Given the description of an element on the screen output the (x, y) to click on. 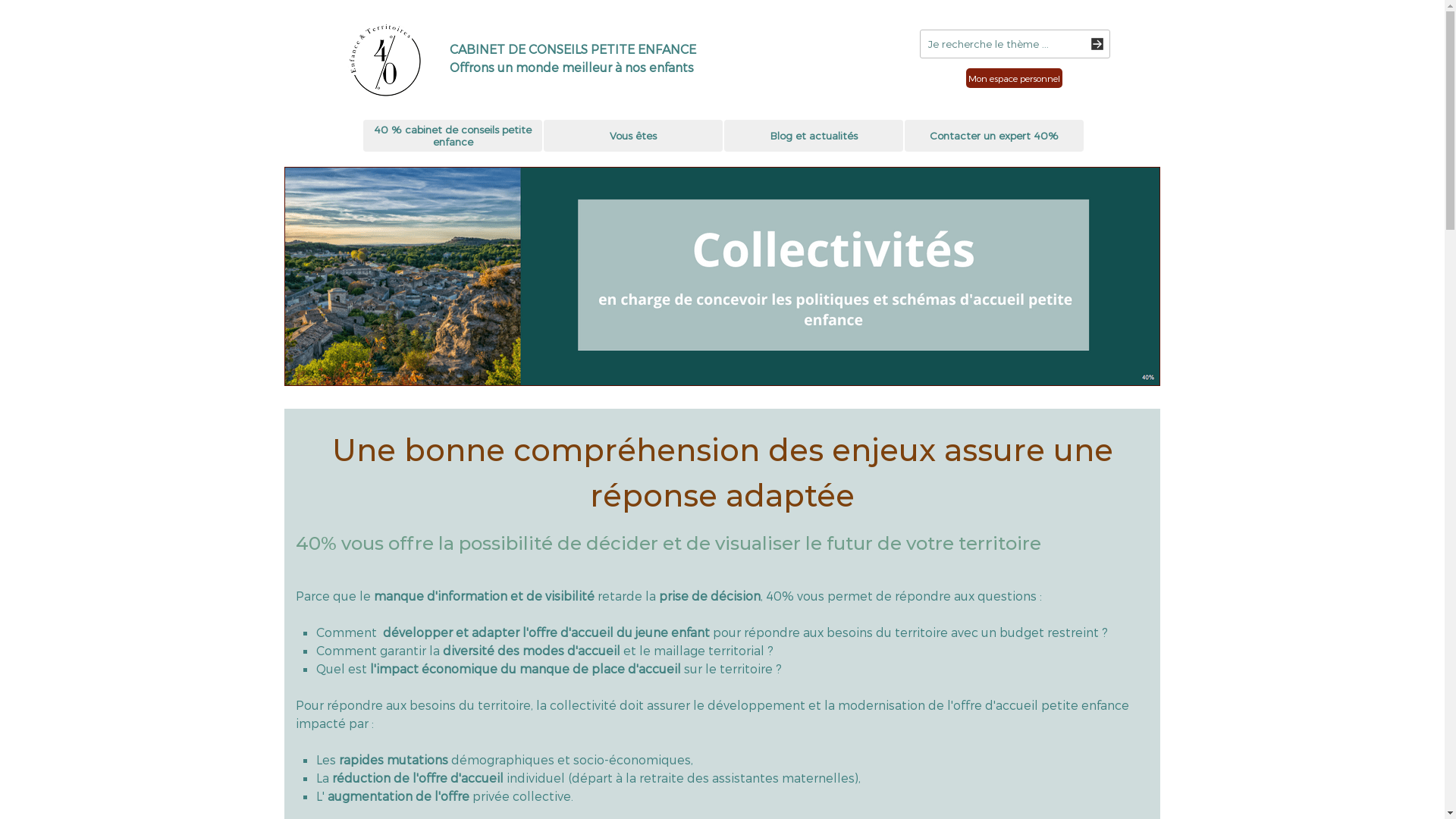
Logo SAS  quanante pour cent Element type: hover (384, 59)
Mon espace personnel Element type: text (1014, 77)
40 % cabinet de conseils petite enfance Element type: text (452, 135)
Contacter un expert 40% Element type: text (993, 135)
